Given the description of an element on the screen output the (x, y) to click on. 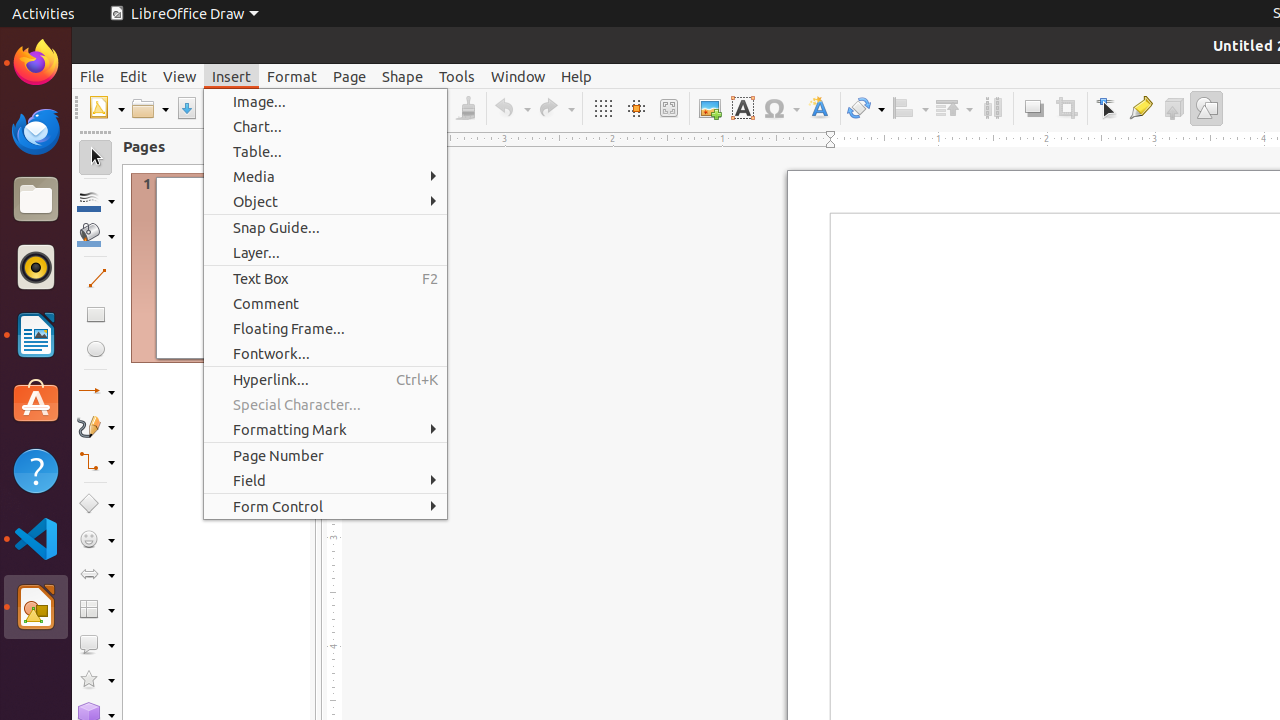
Chart... Element type: menu-item (325, 126)
Formatting Mark Element type: menu (325, 429)
Symbol Shapes Element type: push-button (96, 539)
Helplines While Moving Element type: toggle-button (635, 108)
Ubuntu Software Element type: push-button (36, 402)
